Given the description of an element on the screen output the (x, y) to click on. 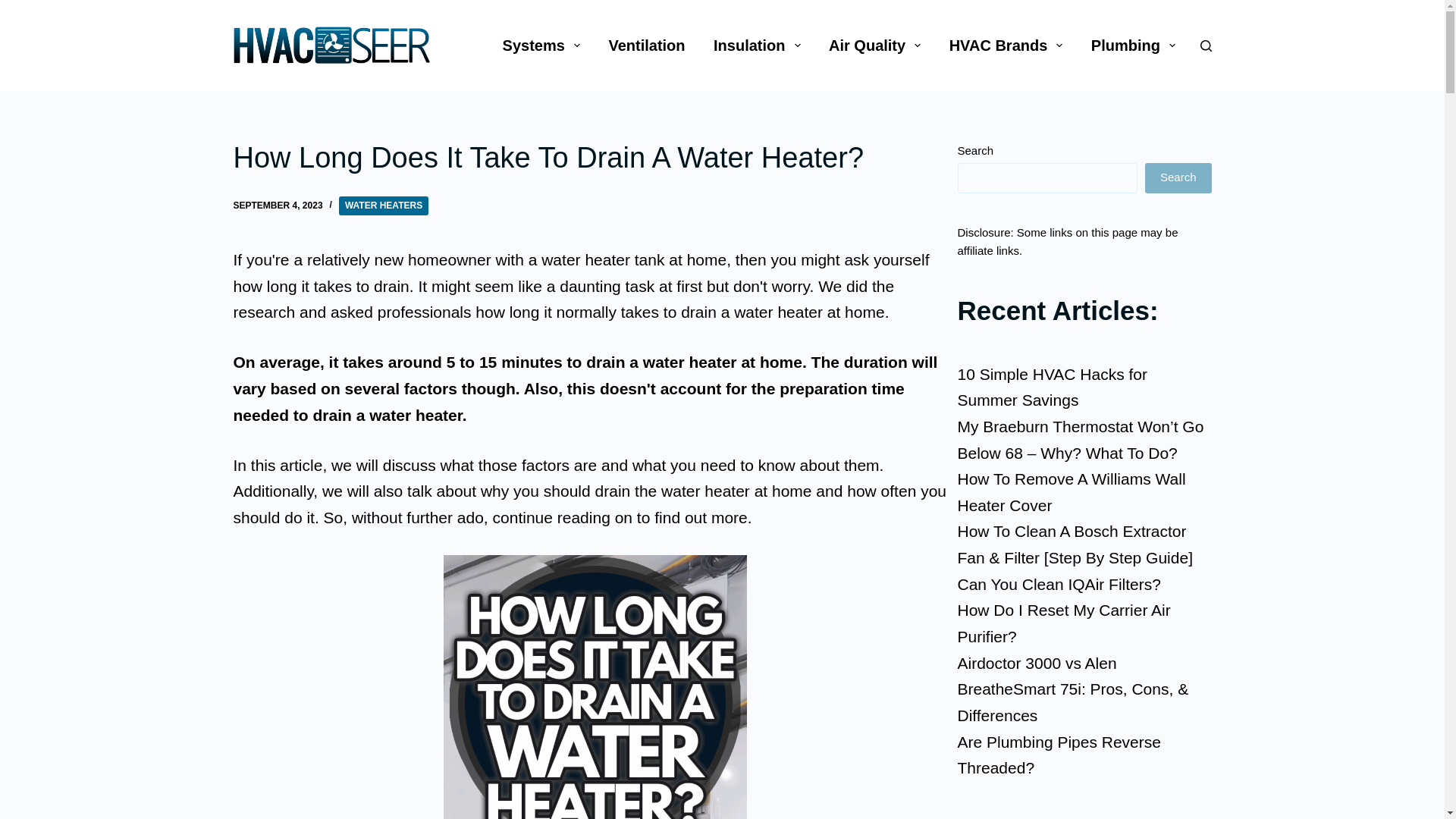
How Long Does It Take To Drain A Water Heater? (595, 157)
Skip to content (15, 7)
